Given the description of an element on the screen output the (x, y) to click on. 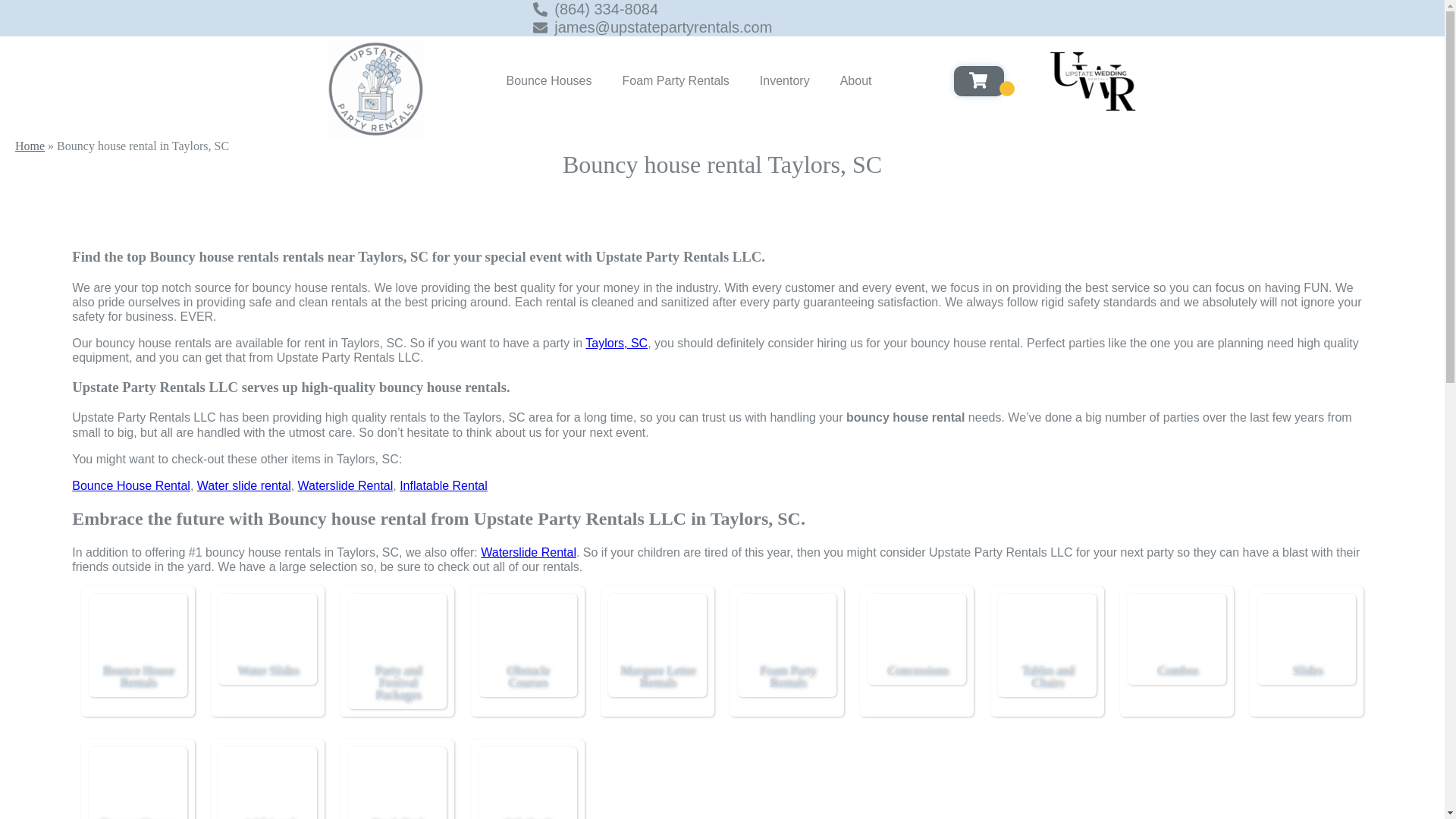
Gift Cards (527, 784)
Inflatable Rental (442, 485)
Slides (1306, 631)
Waterslide Rental (528, 552)
Tables and Chairs (1046, 631)
Concessions (916, 631)
Foam Party Rentals (675, 80)
Water Slides (266, 671)
Water Slides (267, 631)
Water slide rental (243, 485)
